Given the description of an element on the screen output the (x, y) to click on. 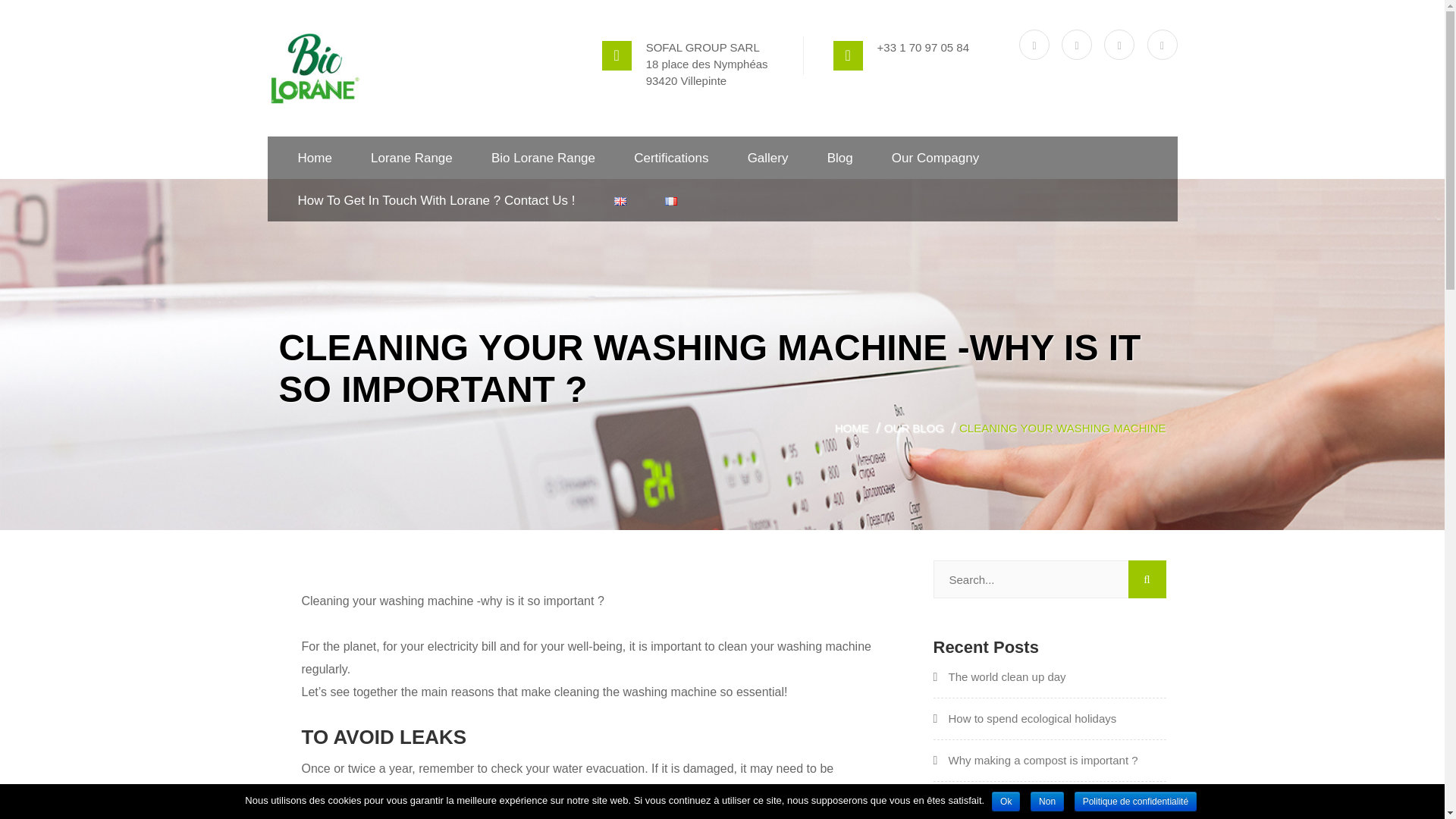
How to spend ecological holidays (1024, 717)
Gallery (768, 157)
Our compagny (934, 157)
The world clean up day (999, 676)
How to get in touch with Lorane ? Contact Us ! (436, 200)
Lorane Range (411, 157)
Bio Lorane range (543, 157)
English (620, 201)
Certifications (670, 157)
home (314, 157)
HOME (857, 427)
Benxi (312, 68)
OUR BLOG (919, 427)
How To Get In Touch With Lorane ? Contact Us ! (436, 200)
Blog (840, 157)
